Given the description of an element on the screen output the (x, y) to click on. 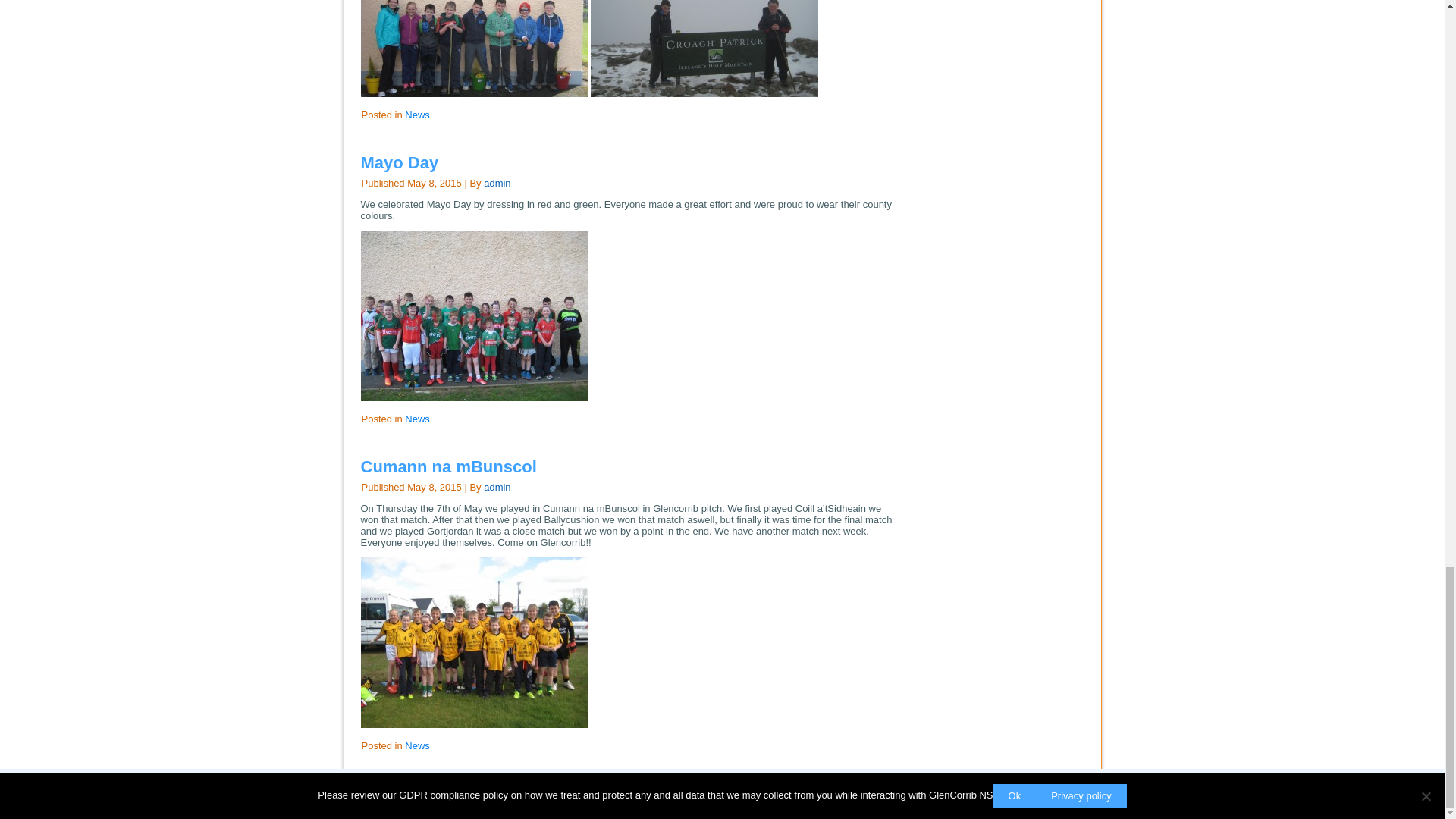
News (416, 114)
Mayo Day (400, 162)
News (416, 419)
admin (497, 183)
